Given the description of an element on the screen output the (x, y) to click on. 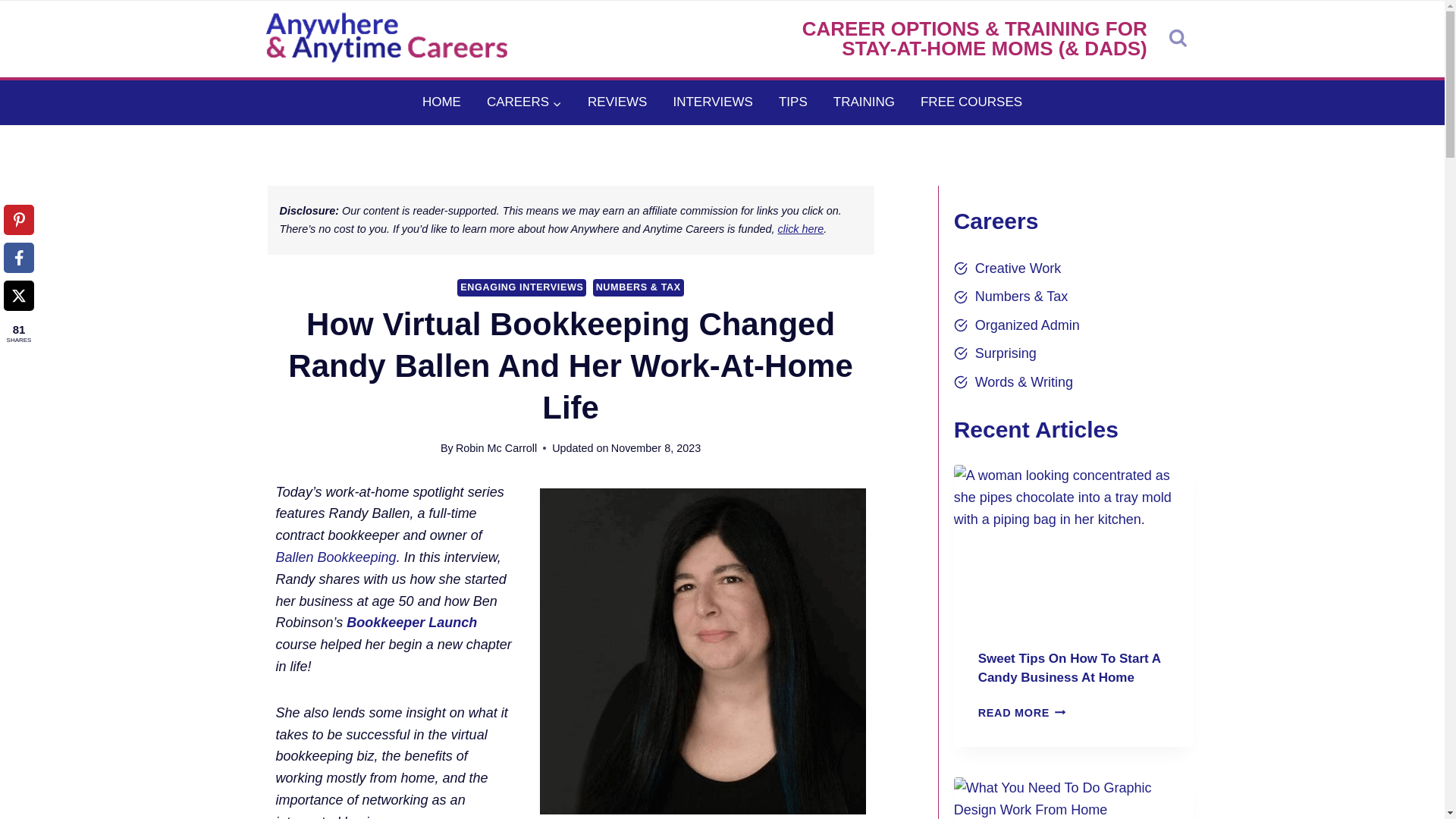
Ballen Bookkeeping (336, 557)
HOME (441, 102)
Sweet Tips On How To Start A Candy Business At Home (1069, 668)
FREE COURSES (971, 102)
REVIEWS (617, 102)
INTERVIEWS (712, 102)
Bookkeeper Launch (411, 622)
ENGAGING INTERVIEWS (521, 287)
TIPS (793, 102)
Creative Work (1007, 268)
